Given the description of an element on the screen output the (x, y) to click on. 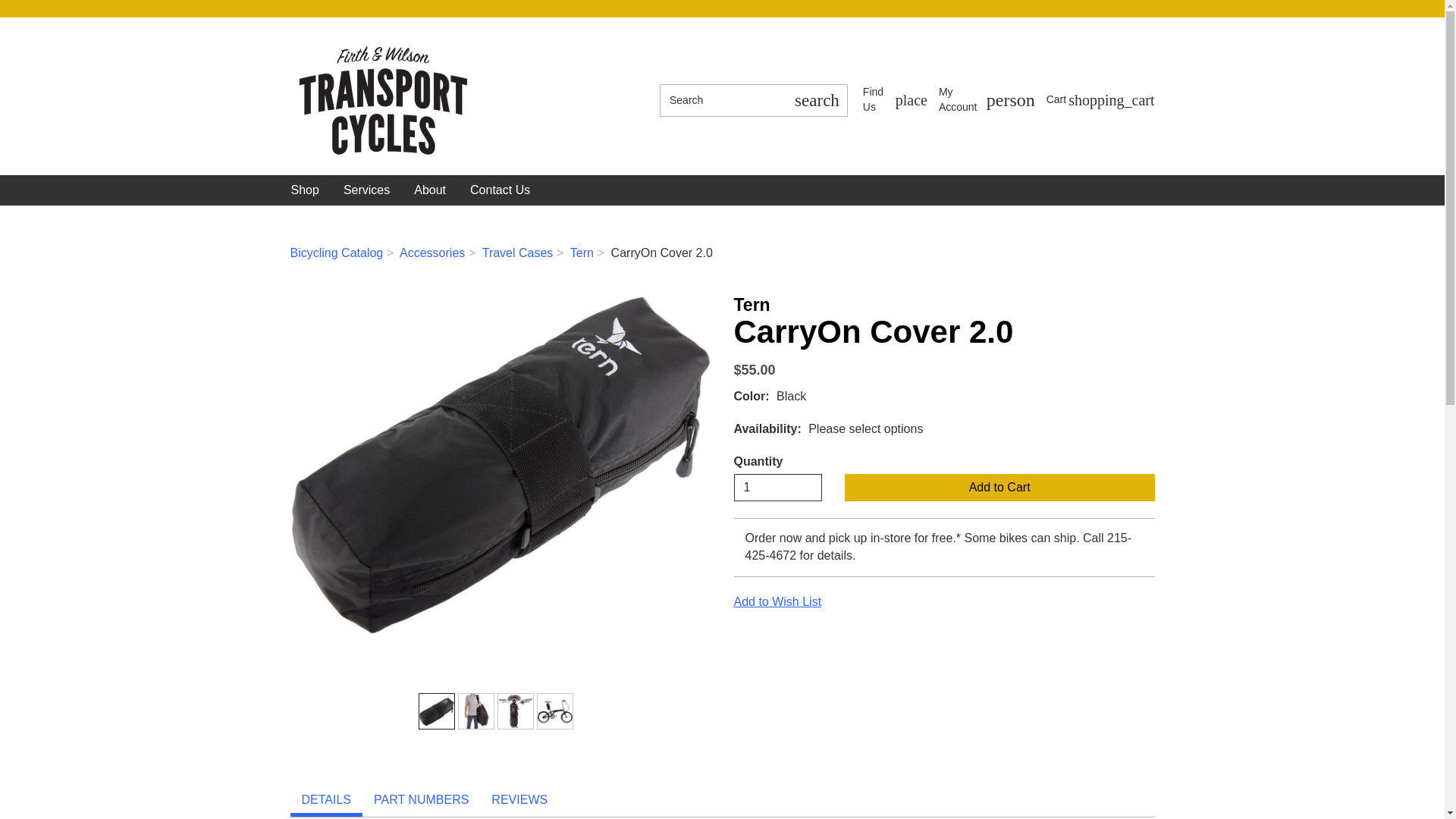
Color: Black (436, 710)
Stores (895, 100)
Search (722, 100)
Search (816, 100)
1 (777, 487)
Account (987, 100)
Color: Black (987, 100)
Shop (475, 710)
